Given the description of an element on the screen output the (x, y) to click on. 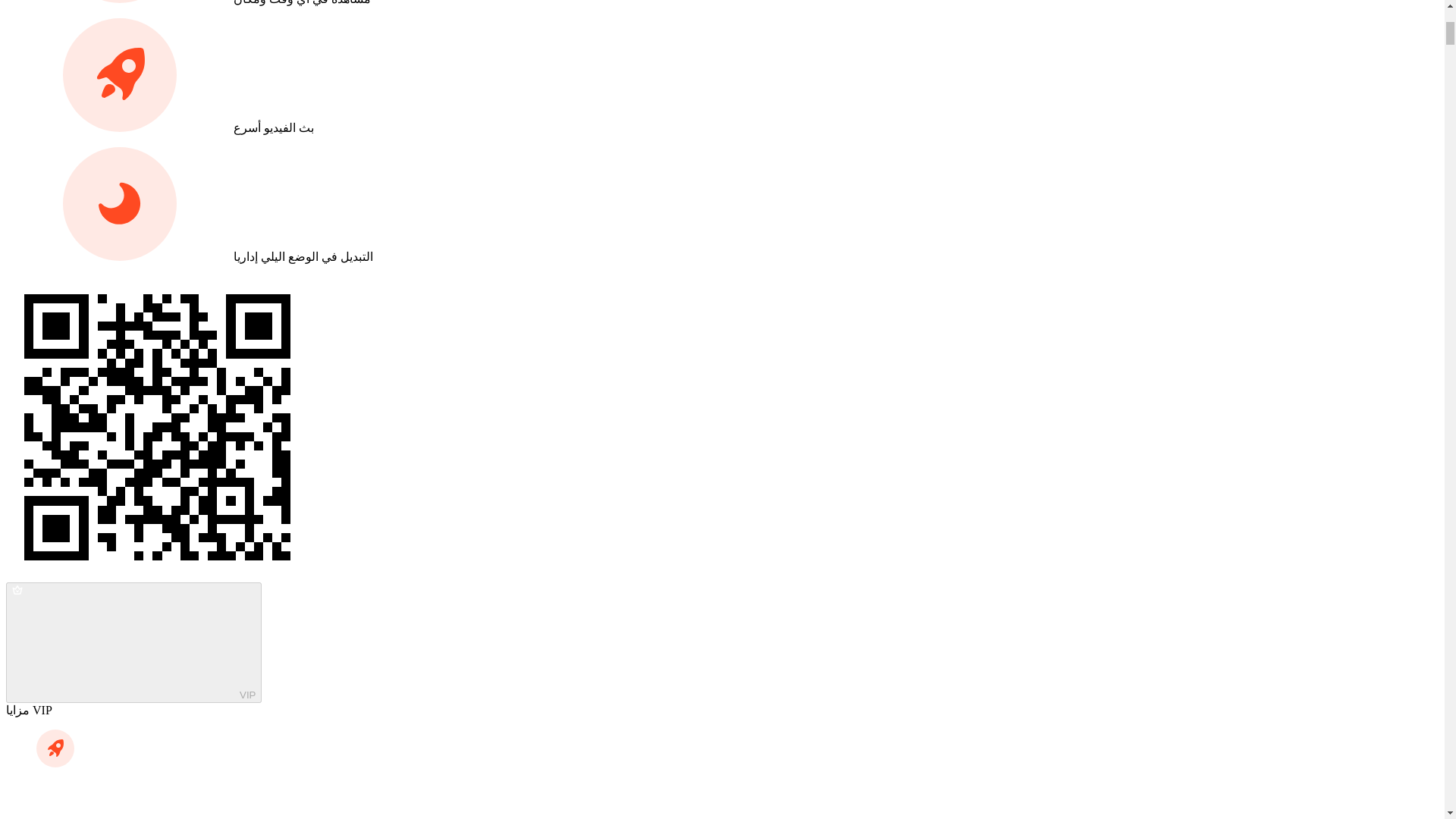
VIP (133, 642)
